Given the description of an element on the screen output the (x, y) to click on. 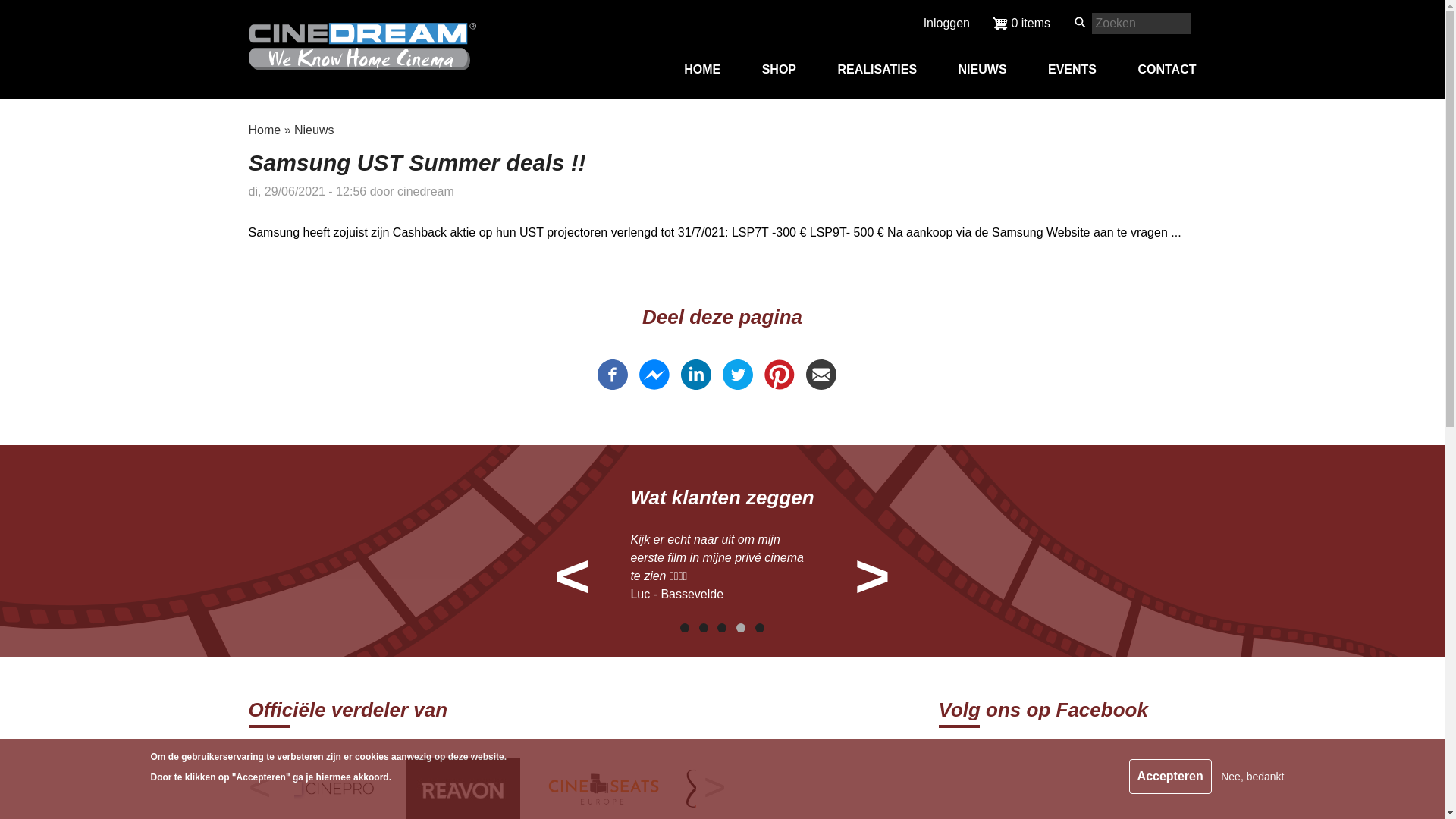
EVENTS Element type: text (1072, 68)
Nieuws Element type: text (313, 129)
Overslaan en naar de inhoud gaan Element type: text (0, 0)
0 items Element type: text (1021, 23)
Nee, bedankt Element type: text (1251, 776)
NIEUWS Element type: text (982, 68)
Pinterest Element type: hover (779, 385)
Afbeelding Element type: text (350, 788)
Facebook Element type: hover (612, 385)
Inloggen Element type: text (946, 22)
Email Element type: hover (820, 385)
Home Element type: text (264, 129)
Accepteren Element type: text (1170, 776)
SHOP Element type: text (779, 68)
Twitter Element type: hover (736, 385)
Facebook messenger Element type: hover (653, 385)
CONTACT Element type: text (1166, 68)
HOME Element type: text (702, 68)
REALISATIES Element type: text (876, 68)
Linkedin Element type: hover (695, 385)
Afbeelding Element type: text (630, 788)
